Given the description of an element on the screen output the (x, y) to click on. 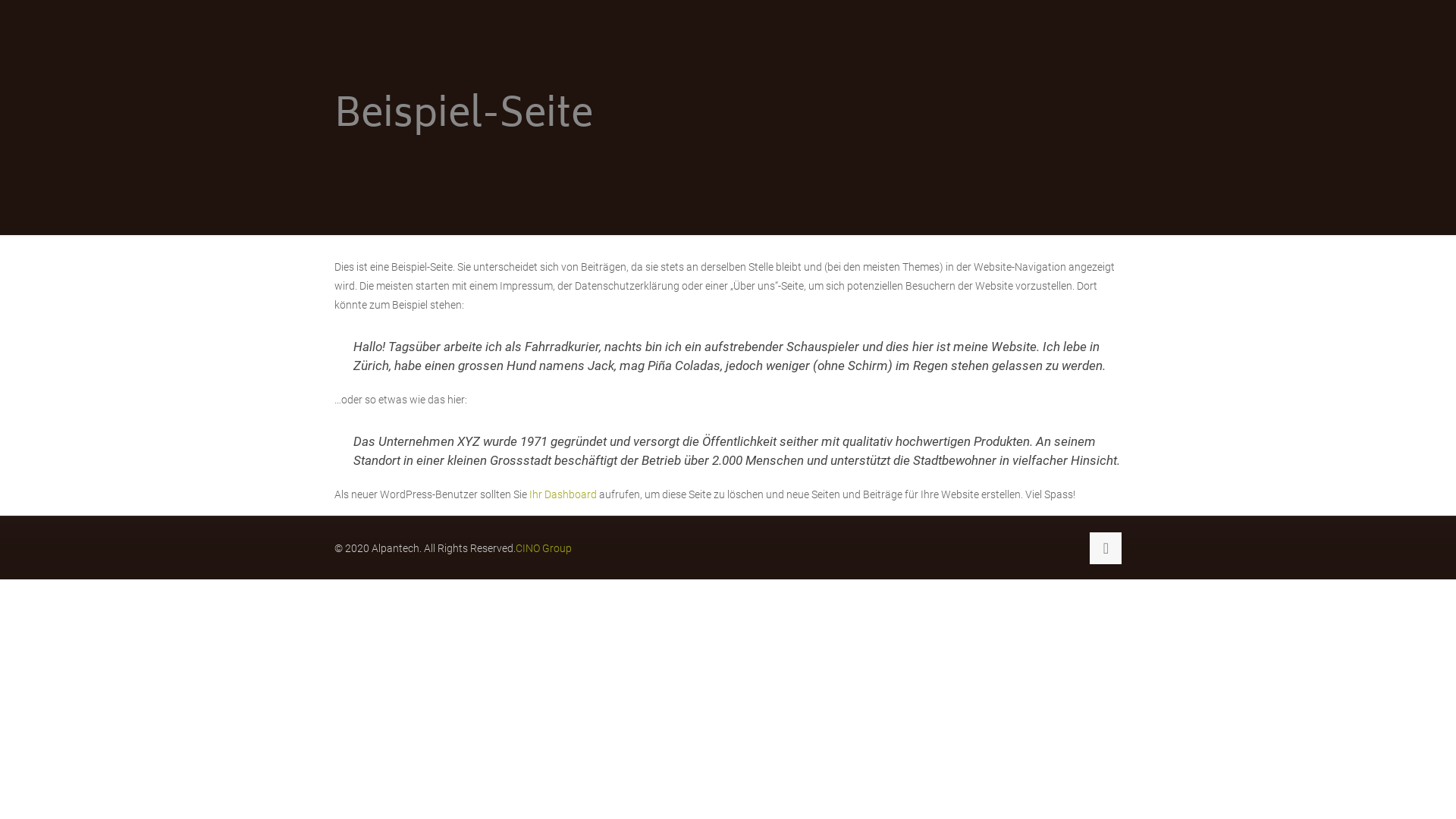
Ihr Dashboard Element type: text (562, 494)
CINO Group Element type: text (543, 548)
